Given the description of an element on the screen output the (x, y) to click on. 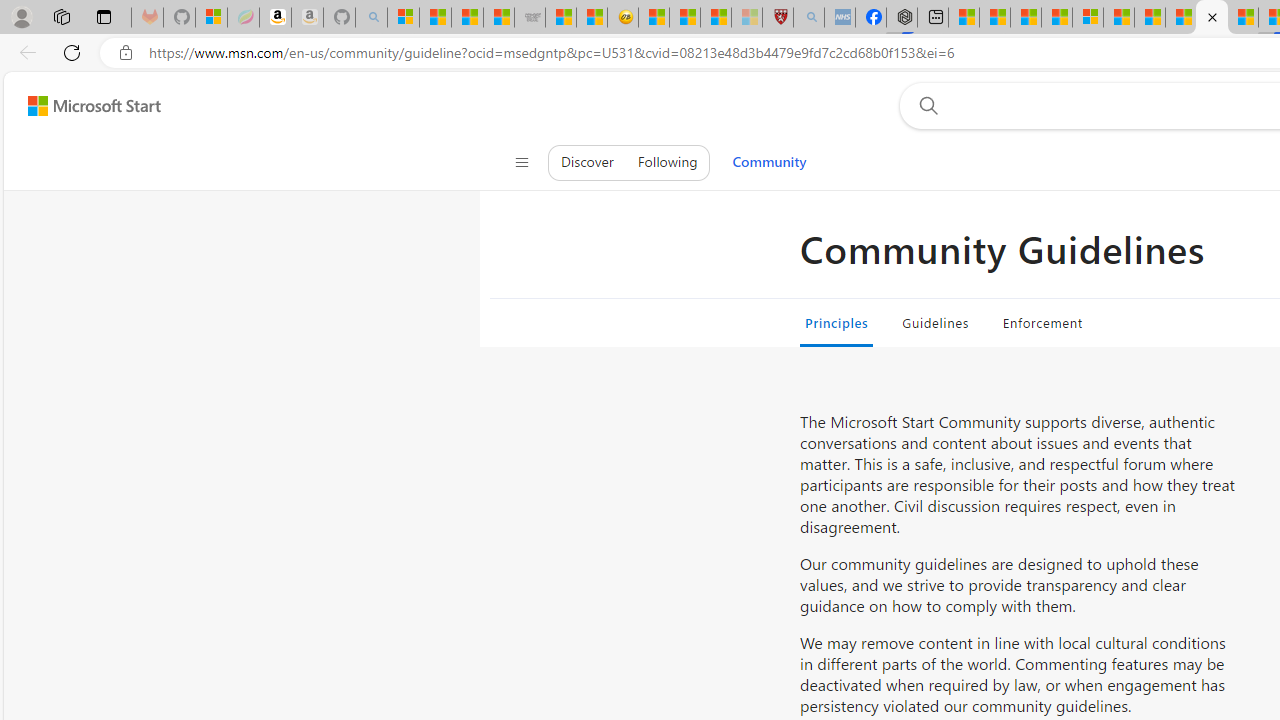
Combat Siege (529, 17)
list of asthma inhalers uk - Search - Sleeping (808, 17)
Community (769, 162)
New tab (932, 17)
MSNBC - MSN (466, 17)
